Given the description of an element on the screen output the (x, y) to click on. 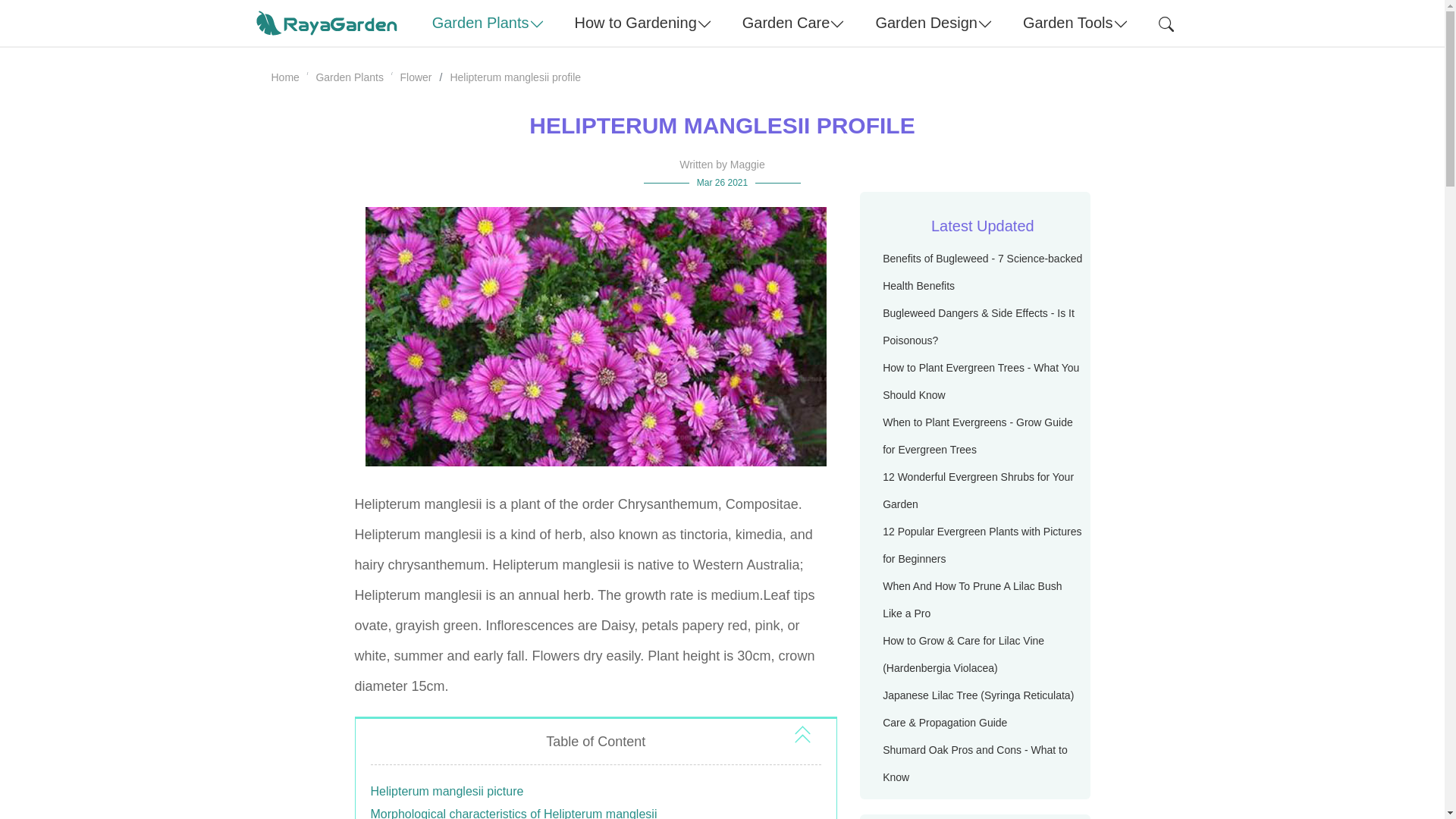
Garden Care (793, 23)
Garden Design (933, 23)
How to Gardening (642, 23)
Garden Plants (487, 23)
